Given the description of an element on the screen output the (x, y) to click on. 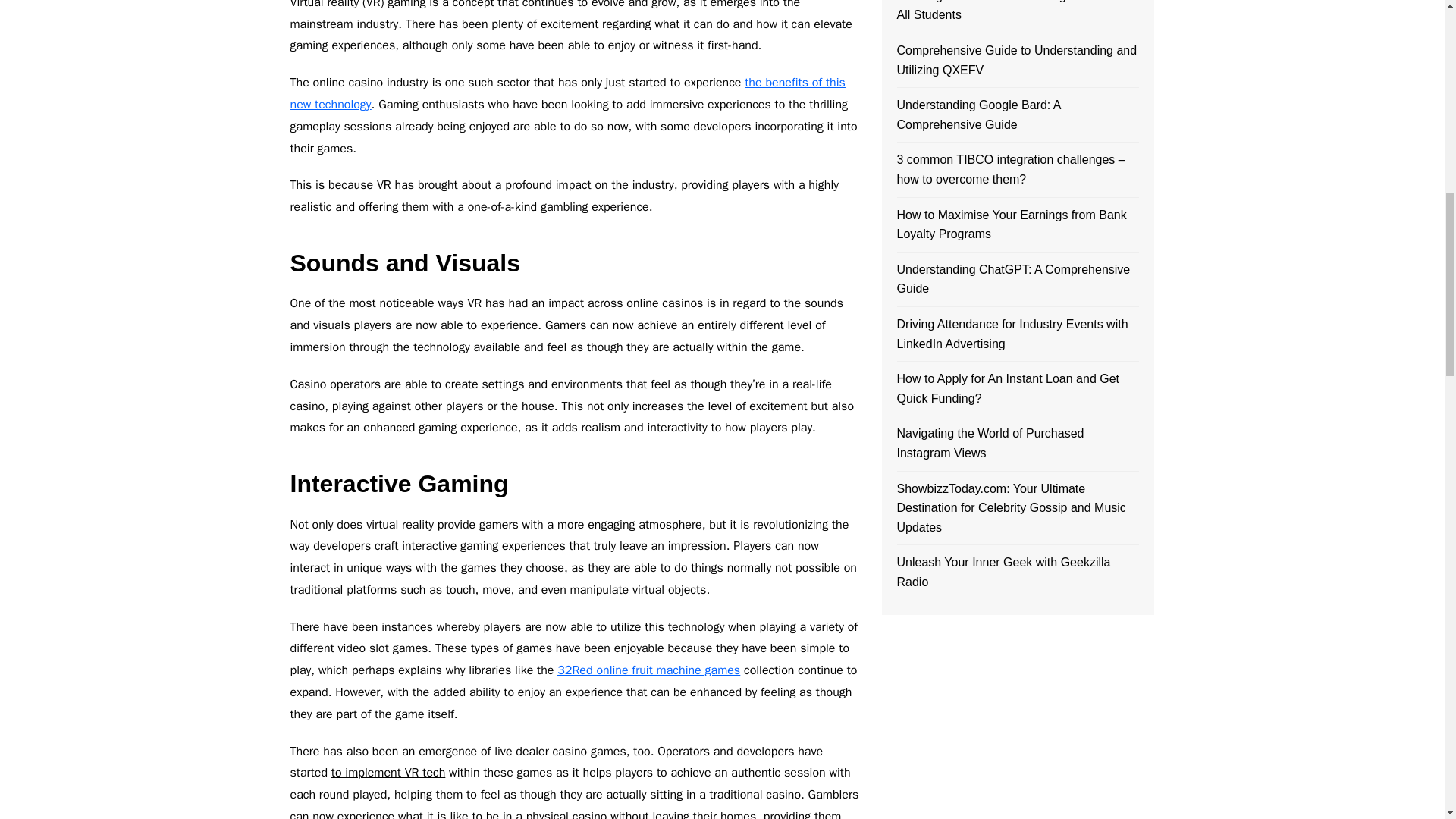
32Red online fruit machine games (648, 670)
the benefits of this new technology (566, 93)
